Given the description of an element on the screen output the (x, y) to click on. 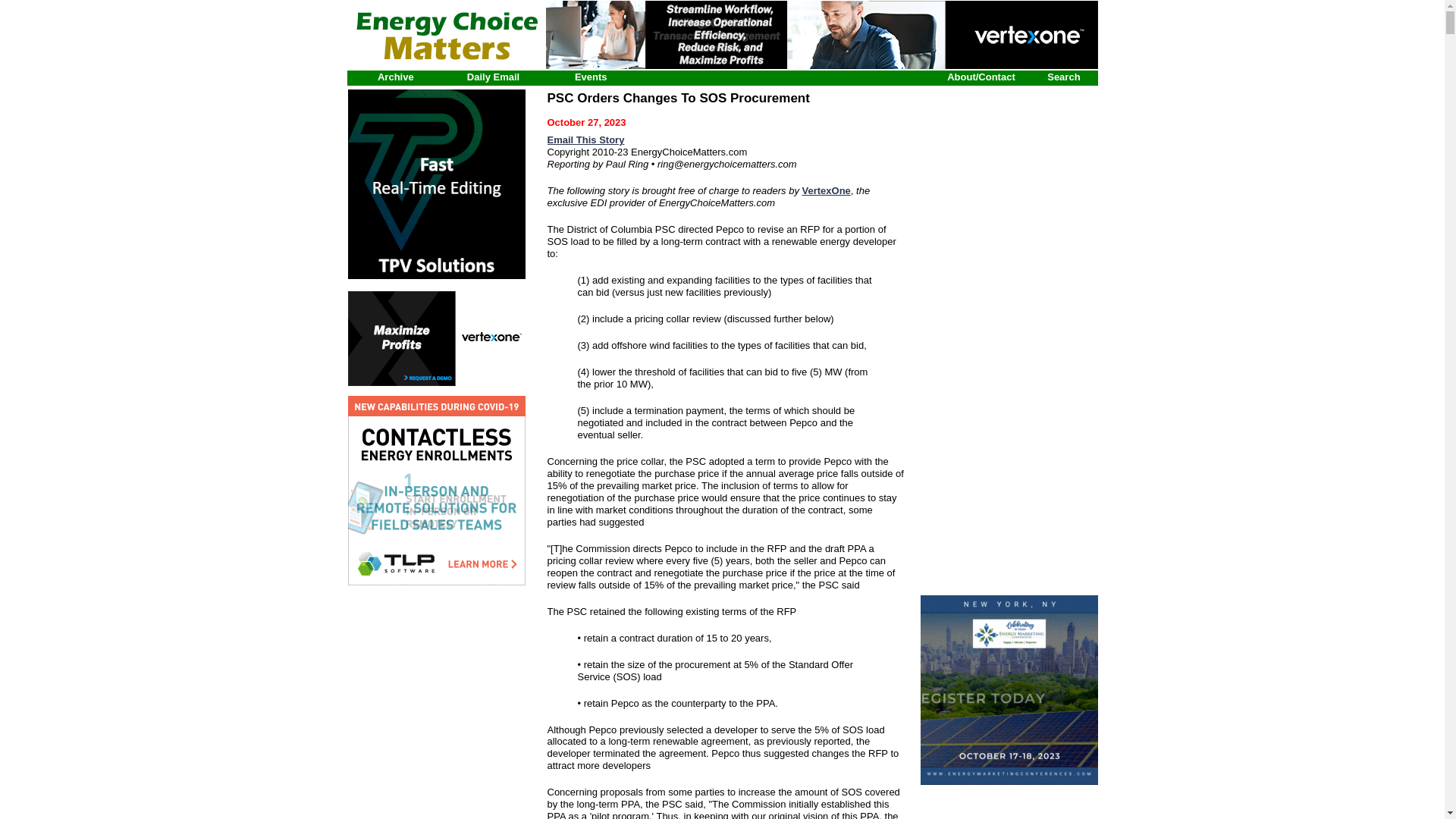
Daily Email (493, 76)
VertexOne (826, 190)
Email This Story (585, 139)
Search (1063, 76)
Archive (395, 76)
Events (591, 76)
